Given the description of an element on the screen output the (x, y) to click on. 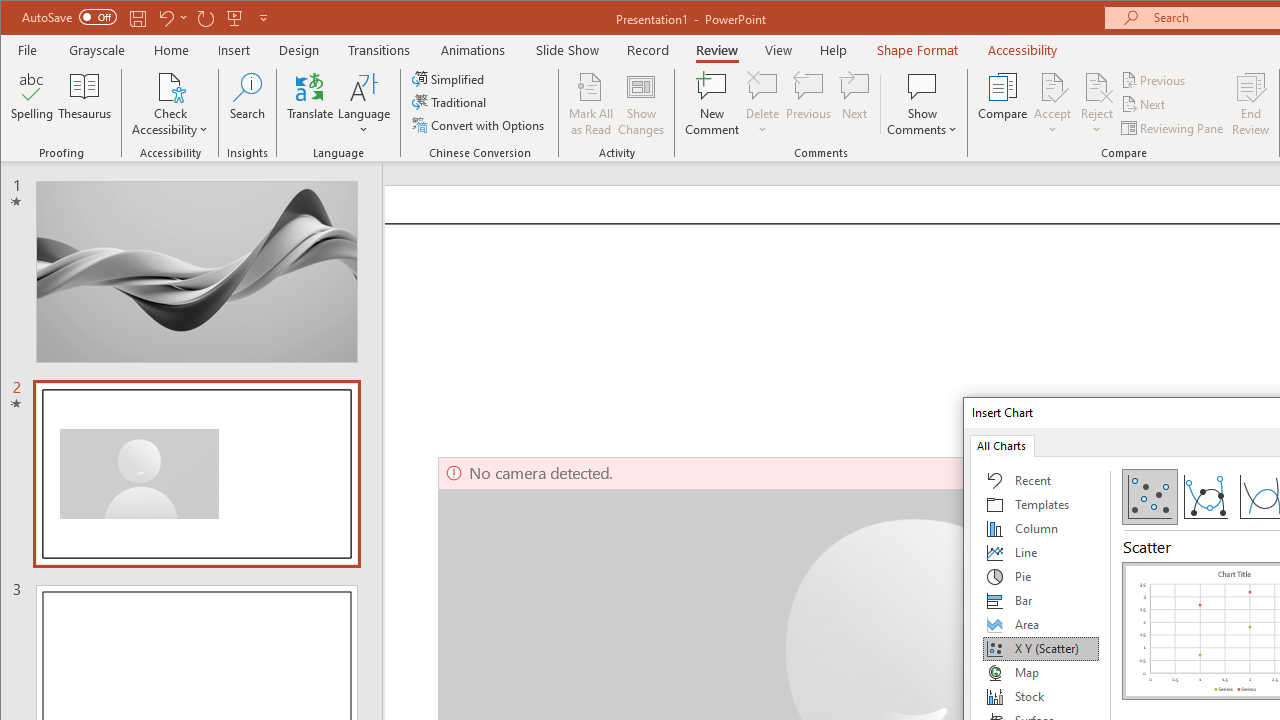
Map (1041, 672)
All Charts (1001, 444)
Next (1144, 103)
Area (1041, 624)
Scatter with Smooth Lines and Markers (1205, 496)
End Review (1251, 104)
X Y (Scatter) (1041, 648)
Reject Change (1096, 86)
Mark All as Read (591, 104)
Line (1041, 552)
